Given the description of an element on the screen output the (x, y) to click on. 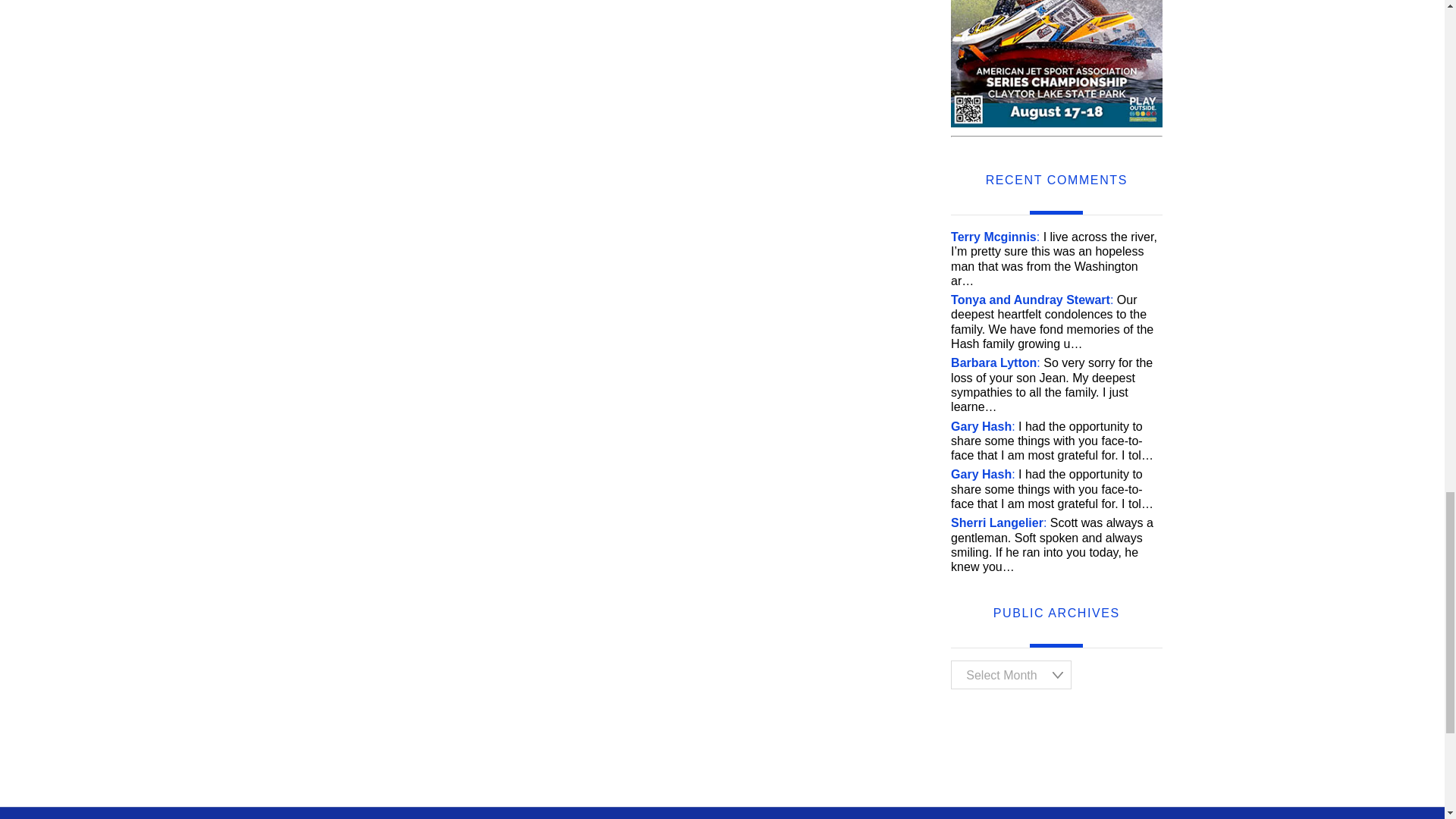
Gary Hash: (982, 426)
Sherri Langelier: (998, 522)
Gary Hash: (982, 473)
Terry Mcginnis: (994, 236)
Barbara Lytton: (995, 362)
Tonya and Aundray Stewart: (1031, 299)
